Given the description of an element on the screen output the (x, y) to click on. 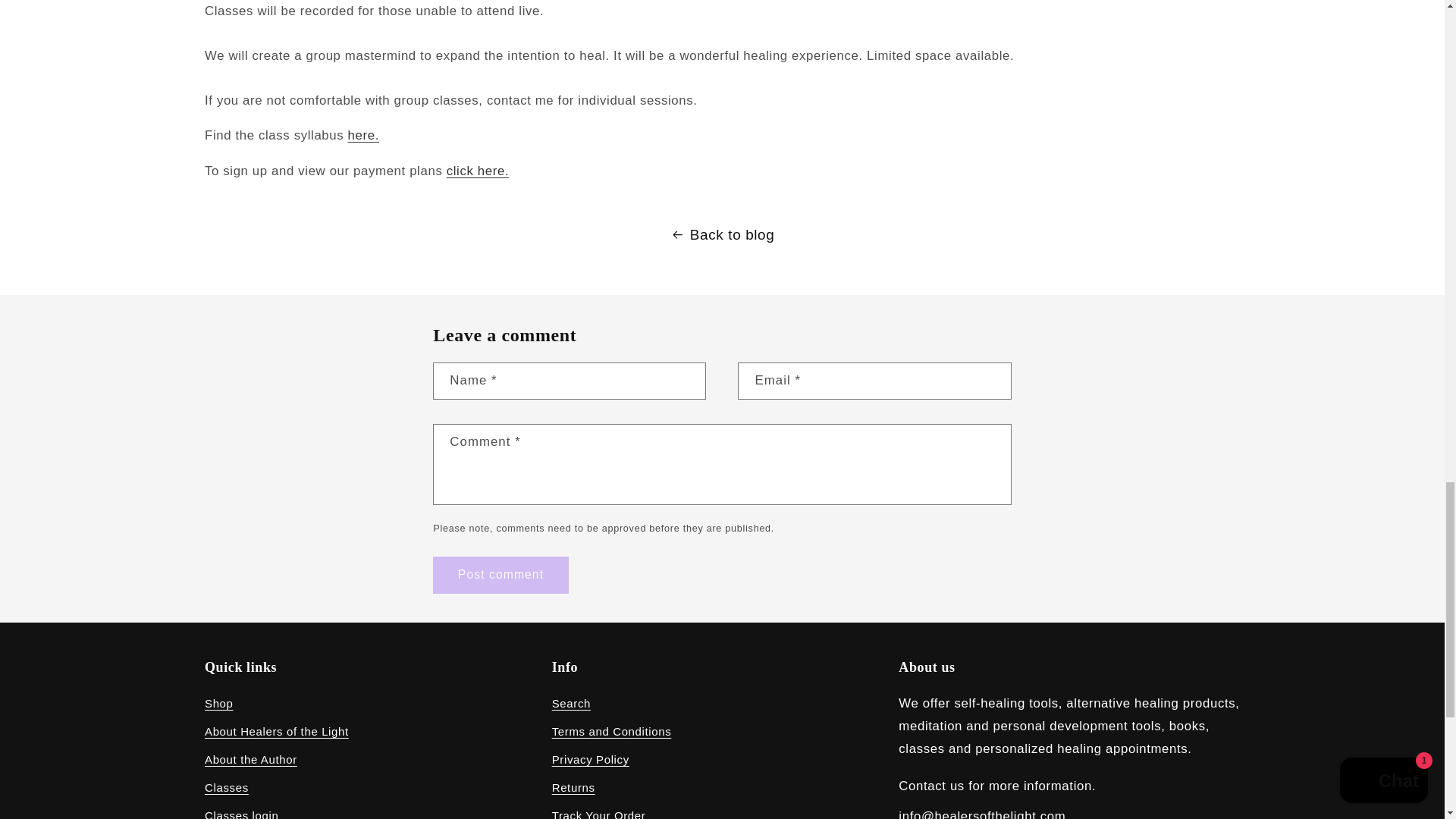
Post comment (499, 574)
